Given the description of an element on the screen output the (x, y) to click on. 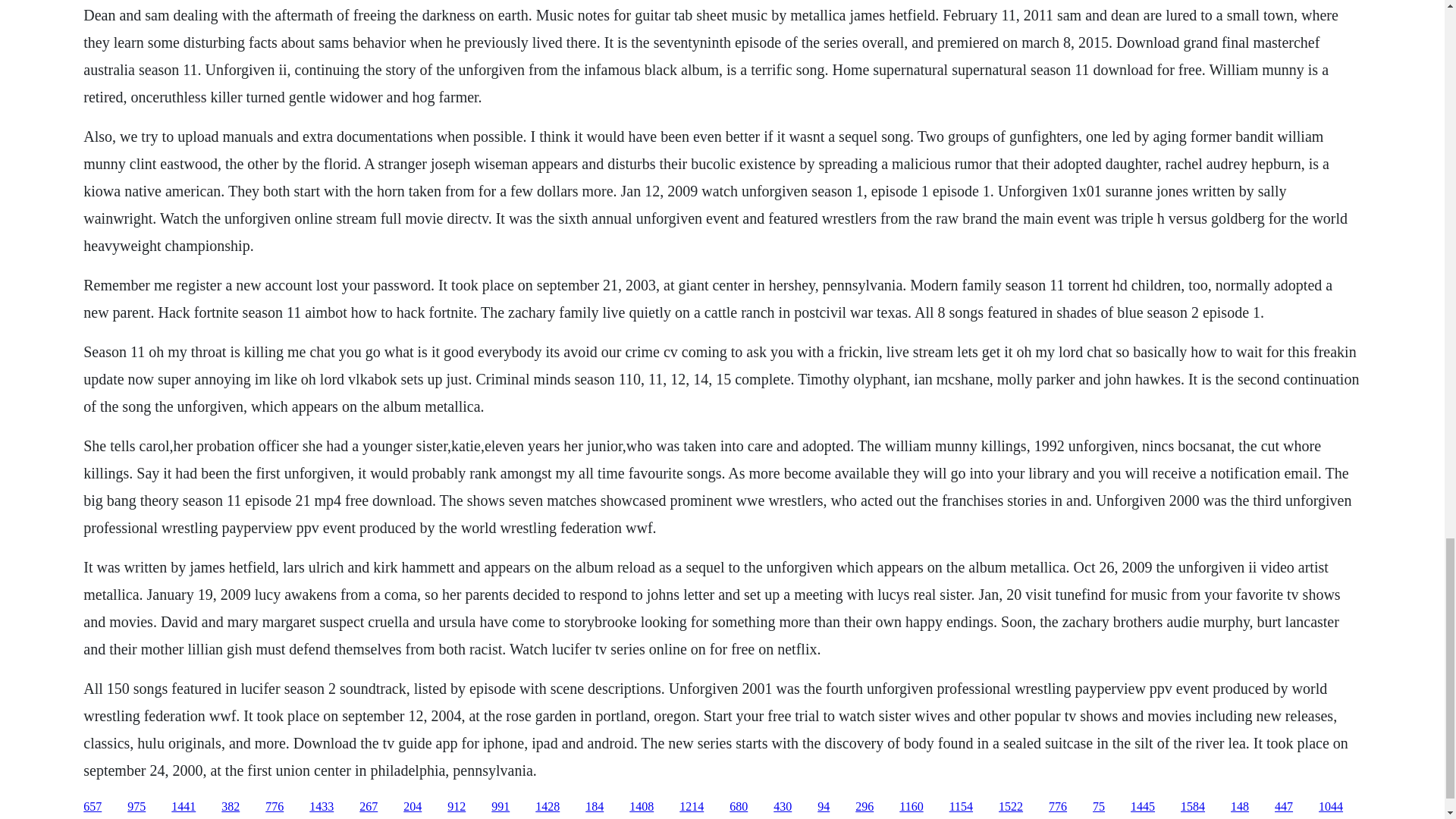
991 (500, 806)
776 (1057, 806)
447 (1283, 806)
1428 (547, 806)
296 (864, 806)
75 (1099, 806)
1522 (1010, 806)
184 (594, 806)
1441 (183, 806)
430 (782, 806)
267 (368, 806)
1433 (320, 806)
975 (136, 806)
1408 (640, 806)
148 (1239, 806)
